Given the description of an element on the screen output the (x, y) to click on. 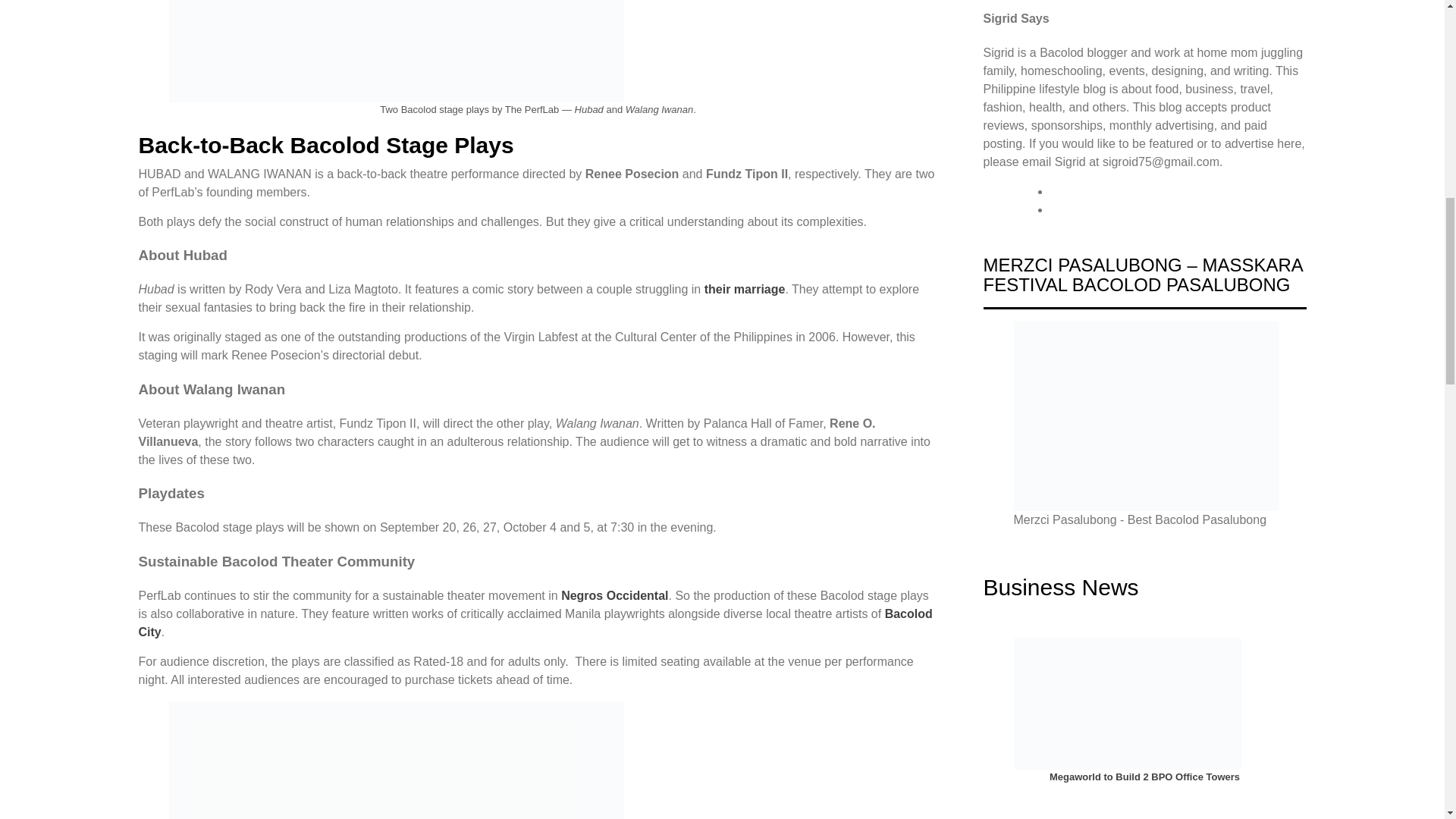
their marriage (745, 288)
Bacolod City (534, 622)
Negros Occidental (614, 594)
